Given the description of an element on the screen output the (x, y) to click on. 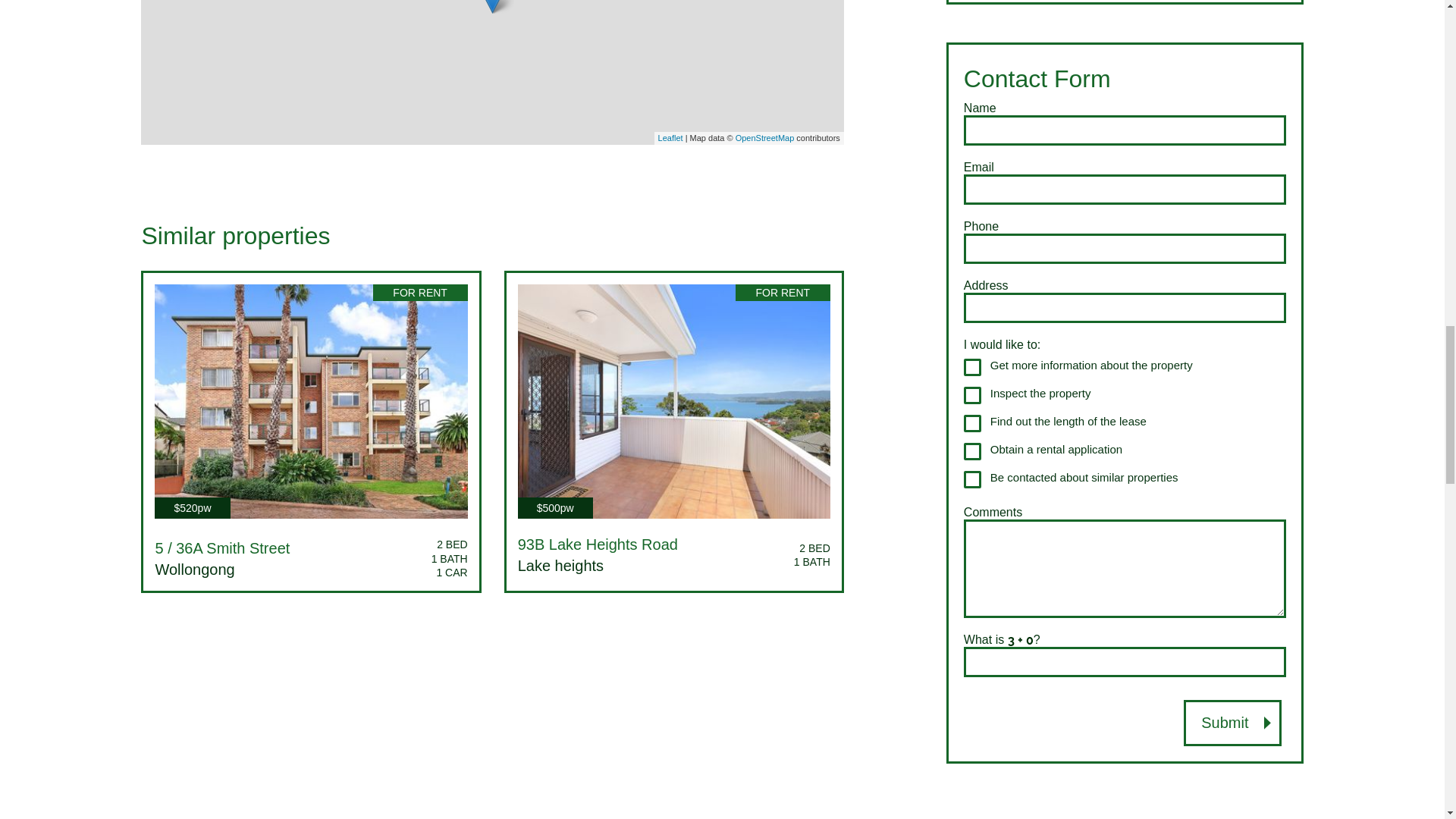
A JS library for interactive maps (670, 137)
